Given the description of an element on the screen output the (x, y) to click on. 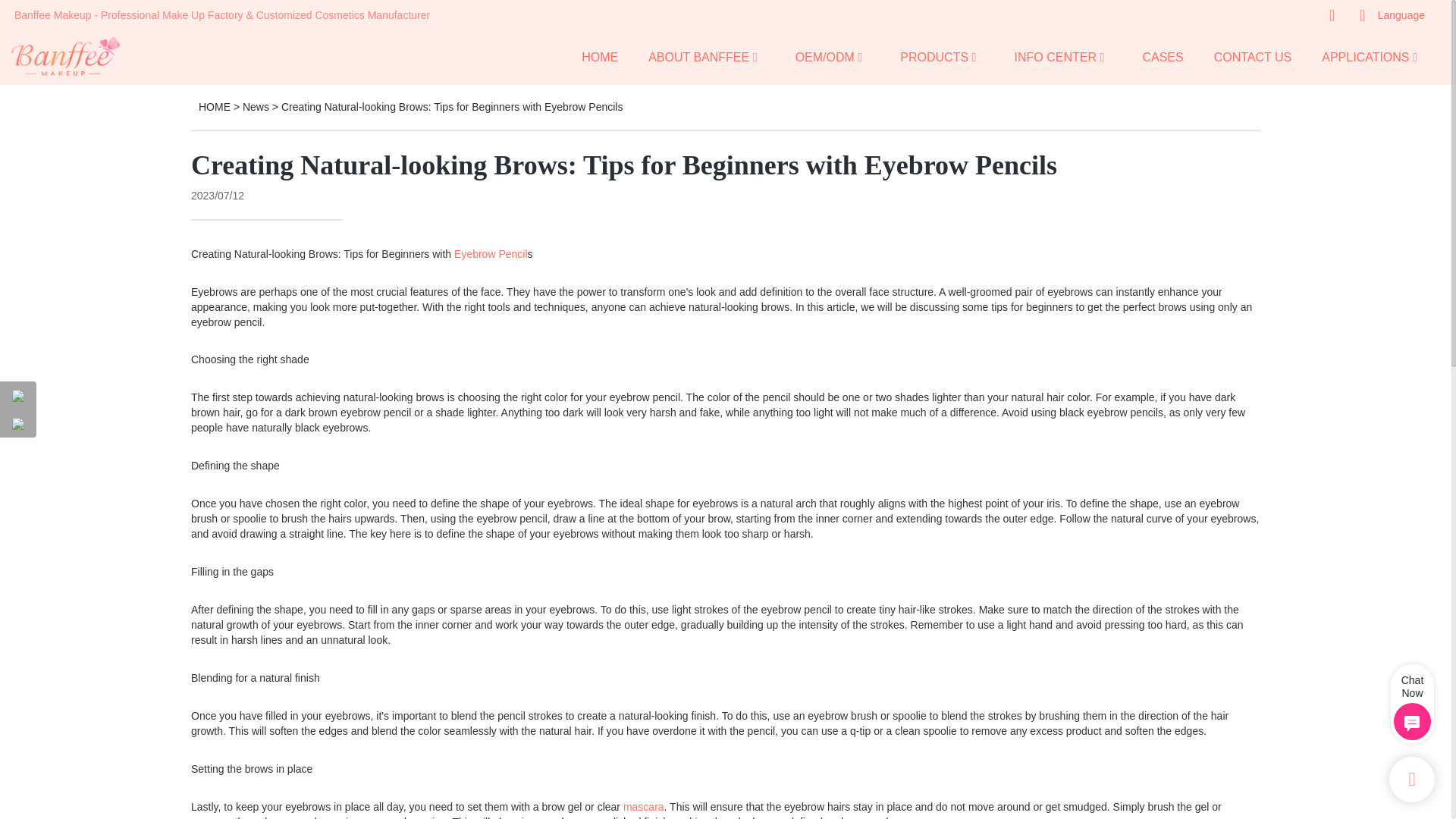
PRODUCTS (933, 56)
ABOUT BANFFEE (698, 56)
mascara (210, 817)
Eyebrow Pencil (490, 254)
HOME (598, 56)
mascara (643, 806)
